Given the description of an element on the screen output the (x, y) to click on. 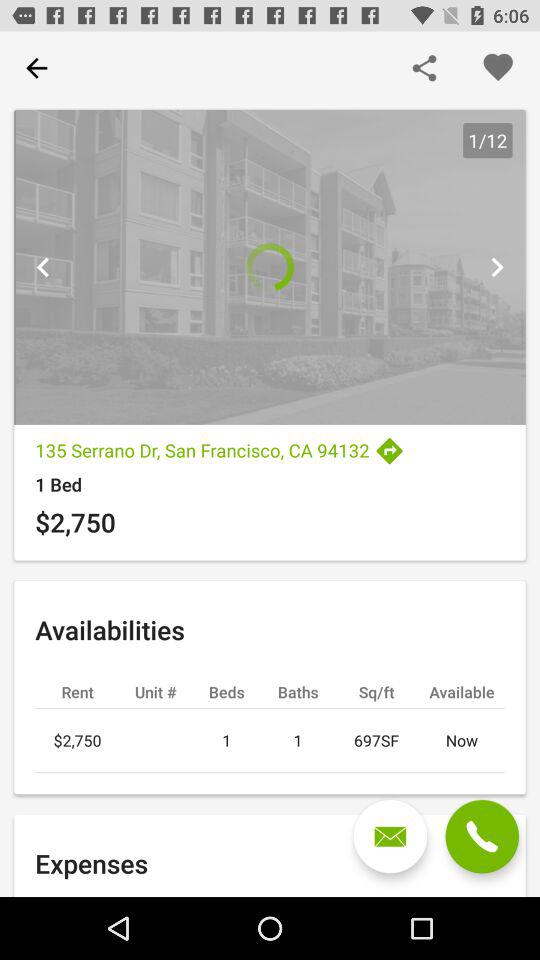
click liked (497, 68)
